Given the description of an element on the screen output the (x, y) to click on. 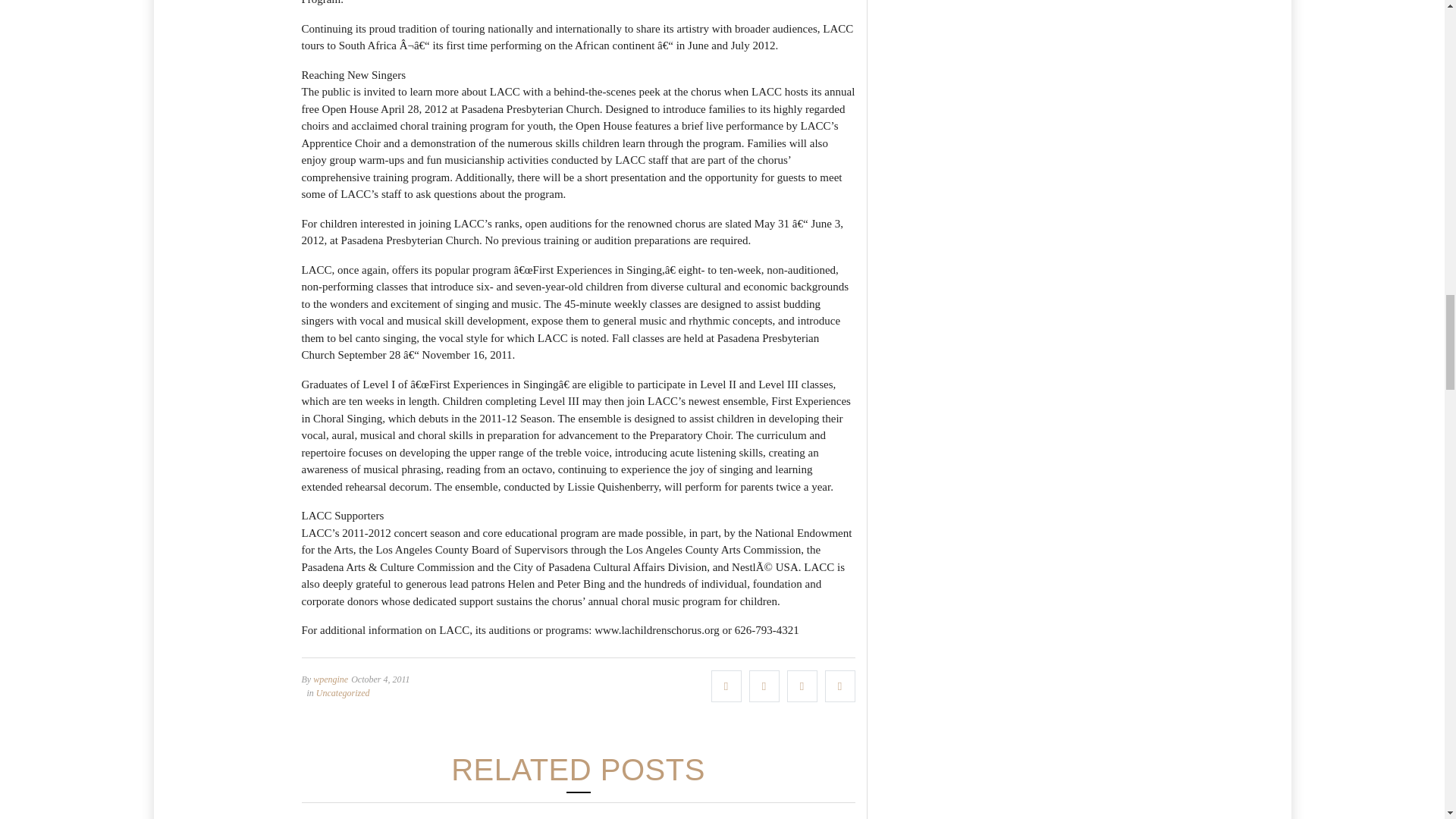
wpengine (330, 679)
Uncategorized (342, 693)
Posts by wpengine (330, 679)
